Given the description of an element on the screen output the (x, y) to click on. 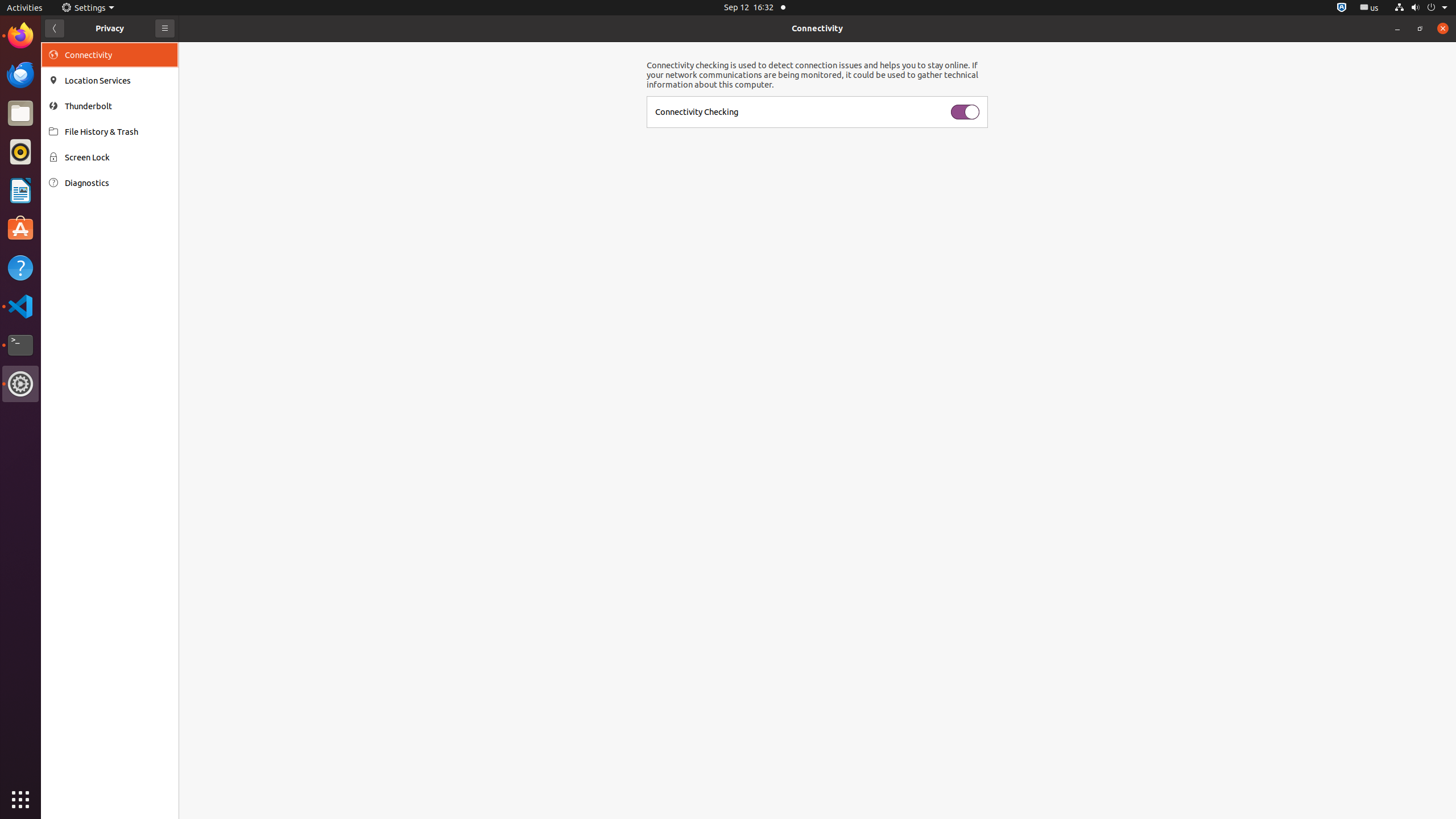
Minimize Element type: push-button (1397, 27)
Privacy Element type: label (109, 27)
Diagnostics Element type: label (117, 182)
